Given the description of an element on the screen output the (x, y) to click on. 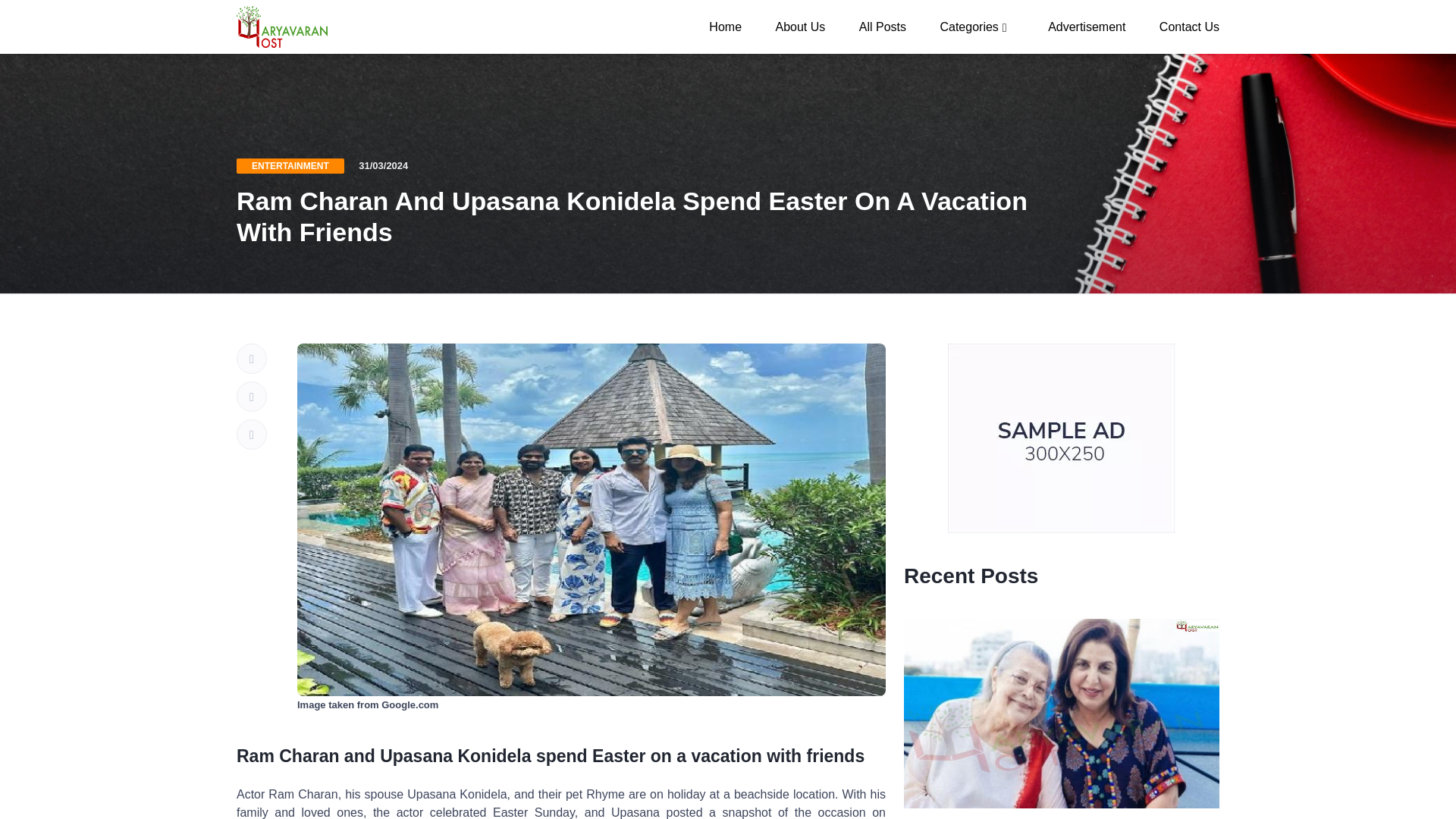
ENTERTAINMENT (289, 165)
All Posts (882, 25)
Contact Us (1182, 25)
About Us (800, 25)
Advertisement (1086, 25)
Categories (976, 25)
Home (725, 25)
